Given the description of an element on the screen output the (x, y) to click on. 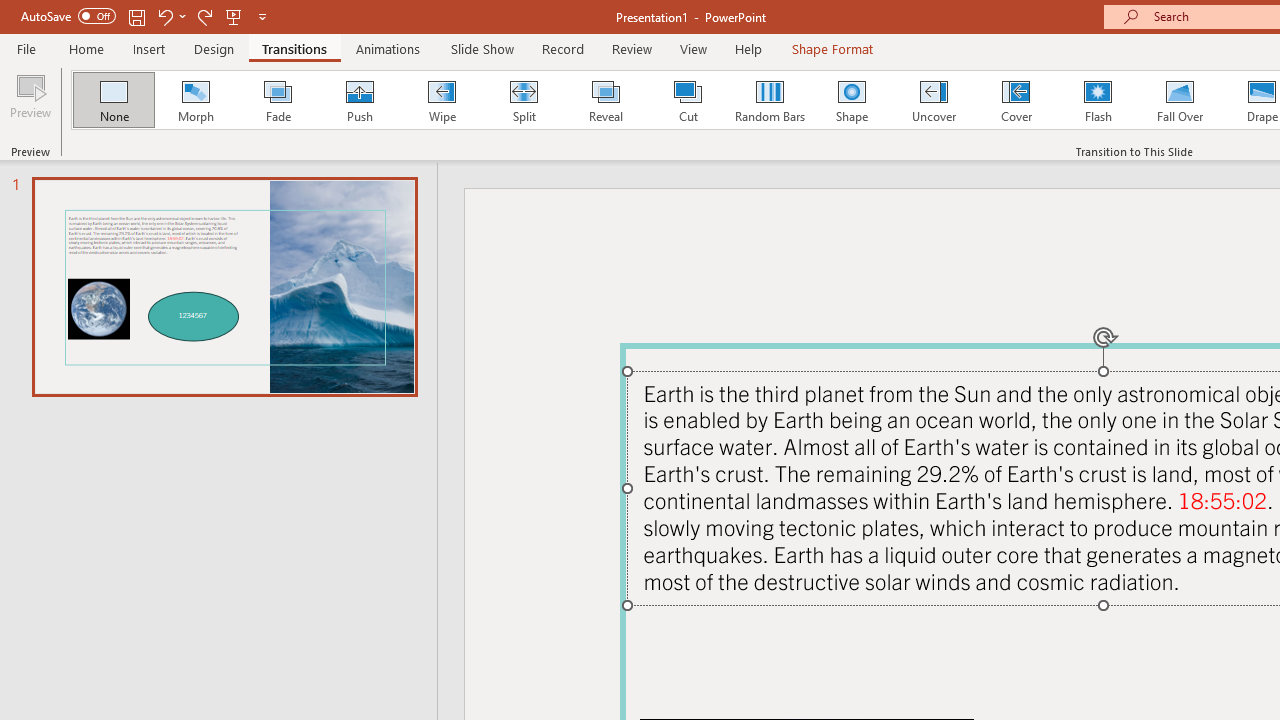
Split (523, 100)
Fall Over (1180, 100)
Fade (277, 100)
Uncover (934, 100)
Reveal (605, 100)
Shape (852, 100)
